Given the description of an element on the screen output the (x, y) to click on. 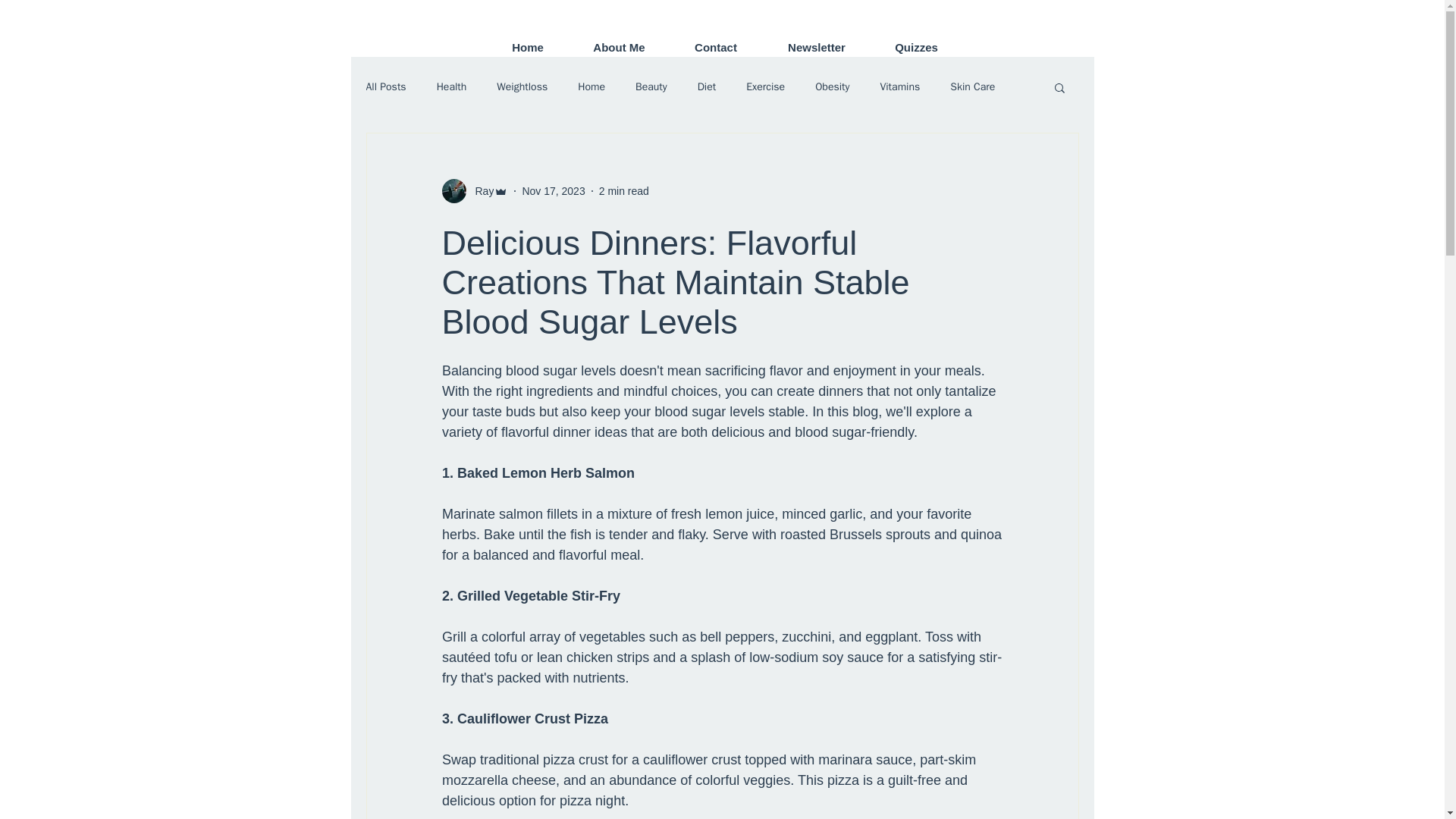
Home (591, 87)
Home (526, 47)
Exercise (764, 87)
Health (451, 87)
Obesity (831, 87)
Vitamins (899, 87)
All Posts (385, 87)
Ray (474, 191)
Weightloss (521, 87)
Skin Care (972, 87)
Nov 17, 2023 (553, 191)
Ray (479, 191)
About Me (619, 47)
2 min read (623, 191)
Beauty (650, 87)
